Given the description of an element on the screen output the (x, y) to click on. 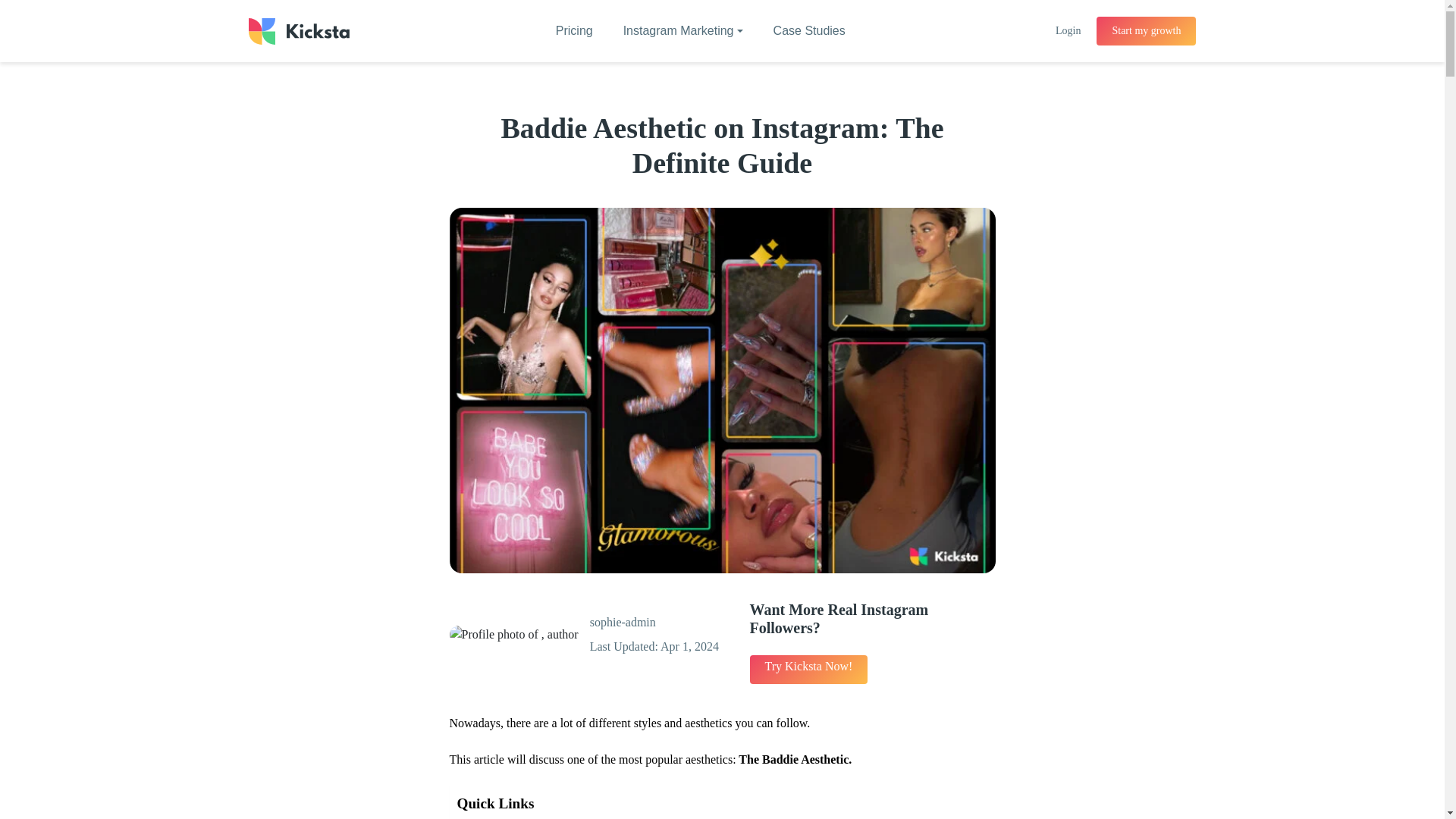
Case Studies (809, 31)
Pricing (574, 31)
Start my growth (1145, 30)
Login (1067, 30)
Try Kicksta Now! (808, 669)
Instagram Marketing (683, 31)
